Given the description of an element on the screen output the (x, y) to click on. 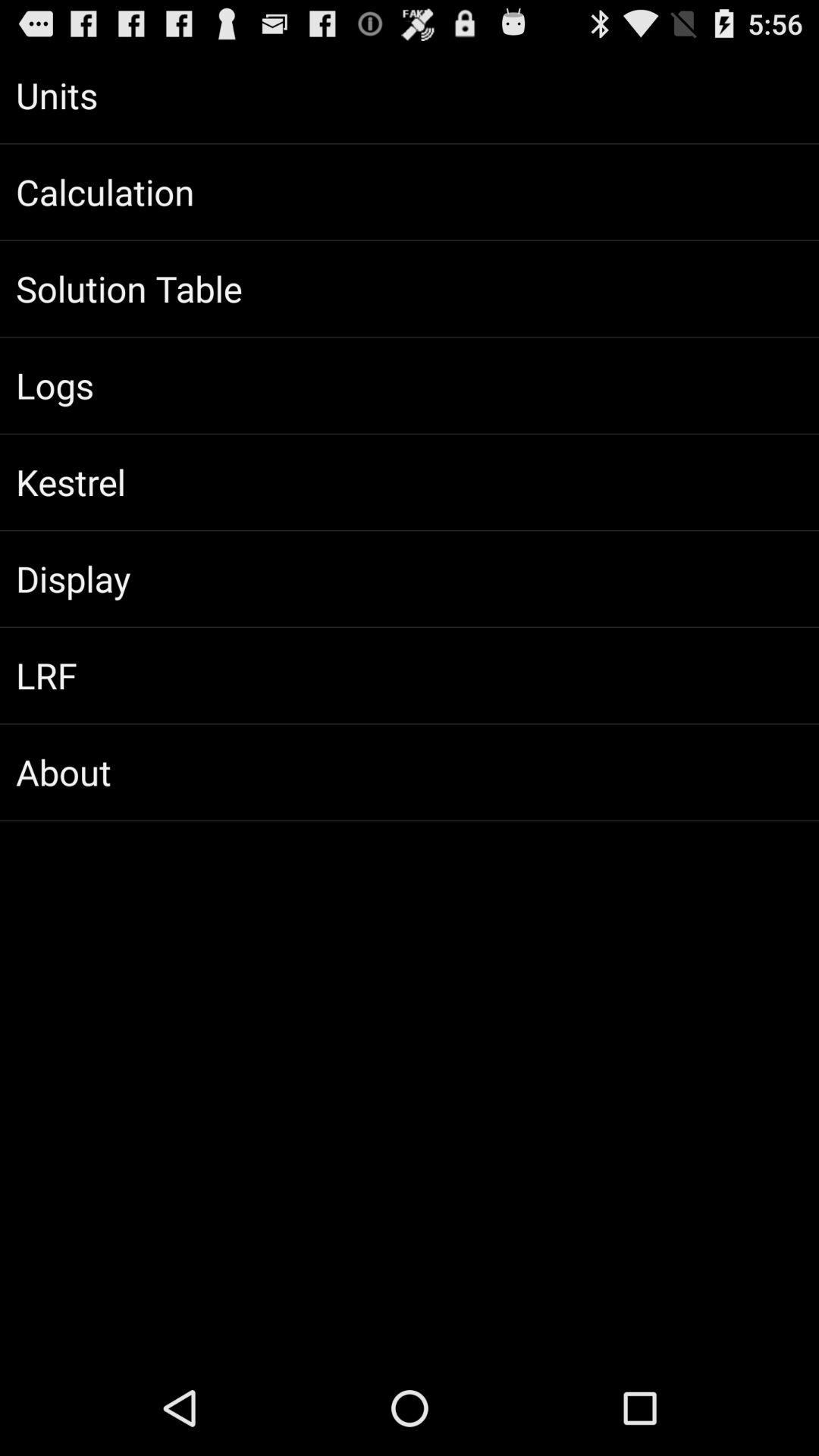
select the app below calculation item (409, 288)
